Given the description of an element on the screen output the (x, y) to click on. 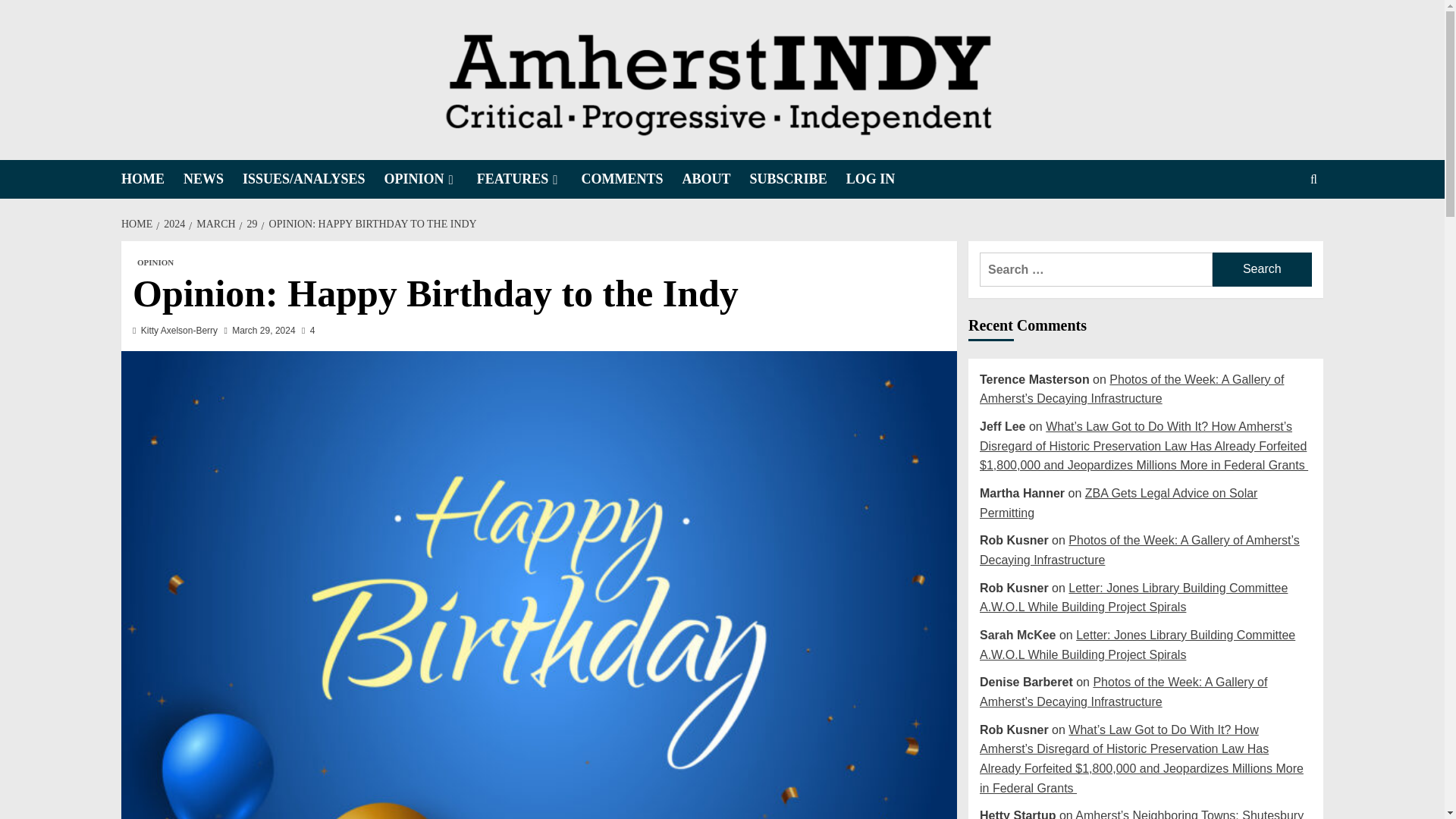
MARCH (213, 224)
NEWS (213, 179)
COMMENTS (631, 179)
Search (1278, 226)
Kitty Axelson-Berry (178, 330)
Search (1261, 269)
HOME (137, 224)
LOG IN (879, 179)
HOME (151, 179)
2024 (172, 224)
